Given the description of an element on the screen output the (x, y) to click on. 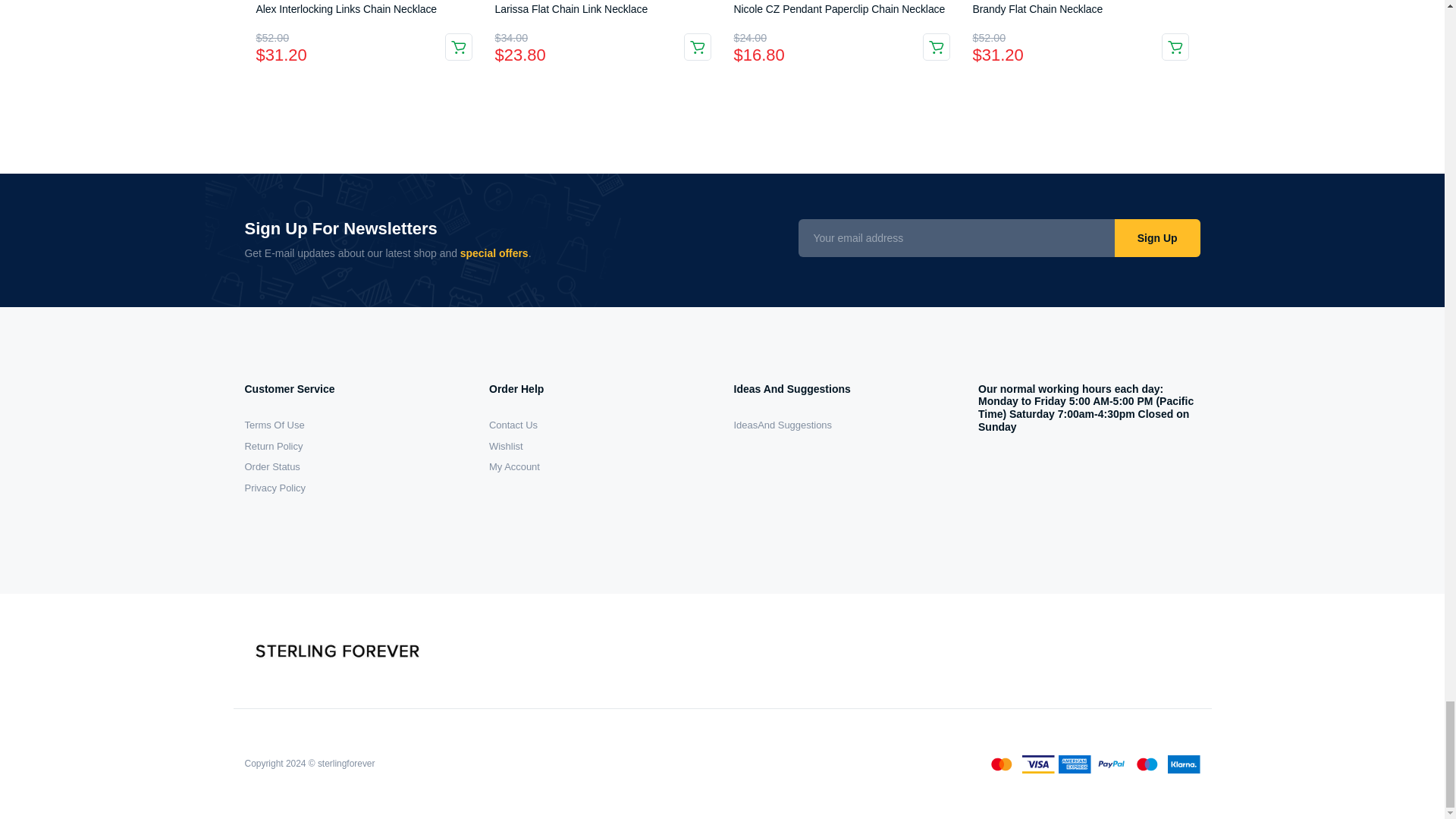
ACCESSORIESDEALERS (338, 650)
